Given the description of an element on the screen output the (x, y) to click on. 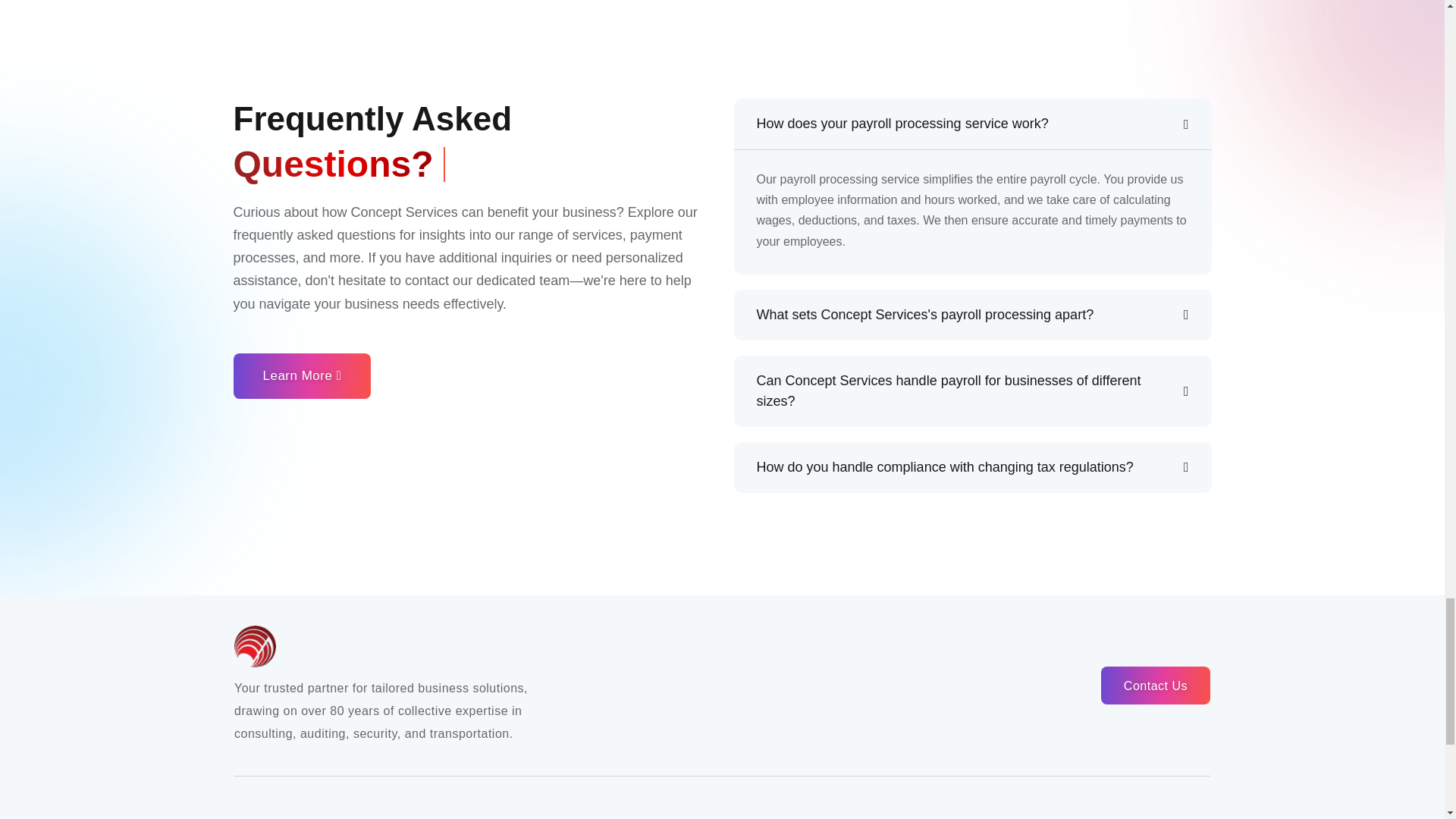
How do you handle compliance with changing tax regulations? (973, 467)
How does your payroll processing service work? (973, 123)
Contact Us (1154, 685)
Concept Services Inc. (559, 646)
Learn More (301, 375)
What sets Concept Services's payroll processing apart? (973, 314)
